Given the description of an element on the screen output the (x, y) to click on. 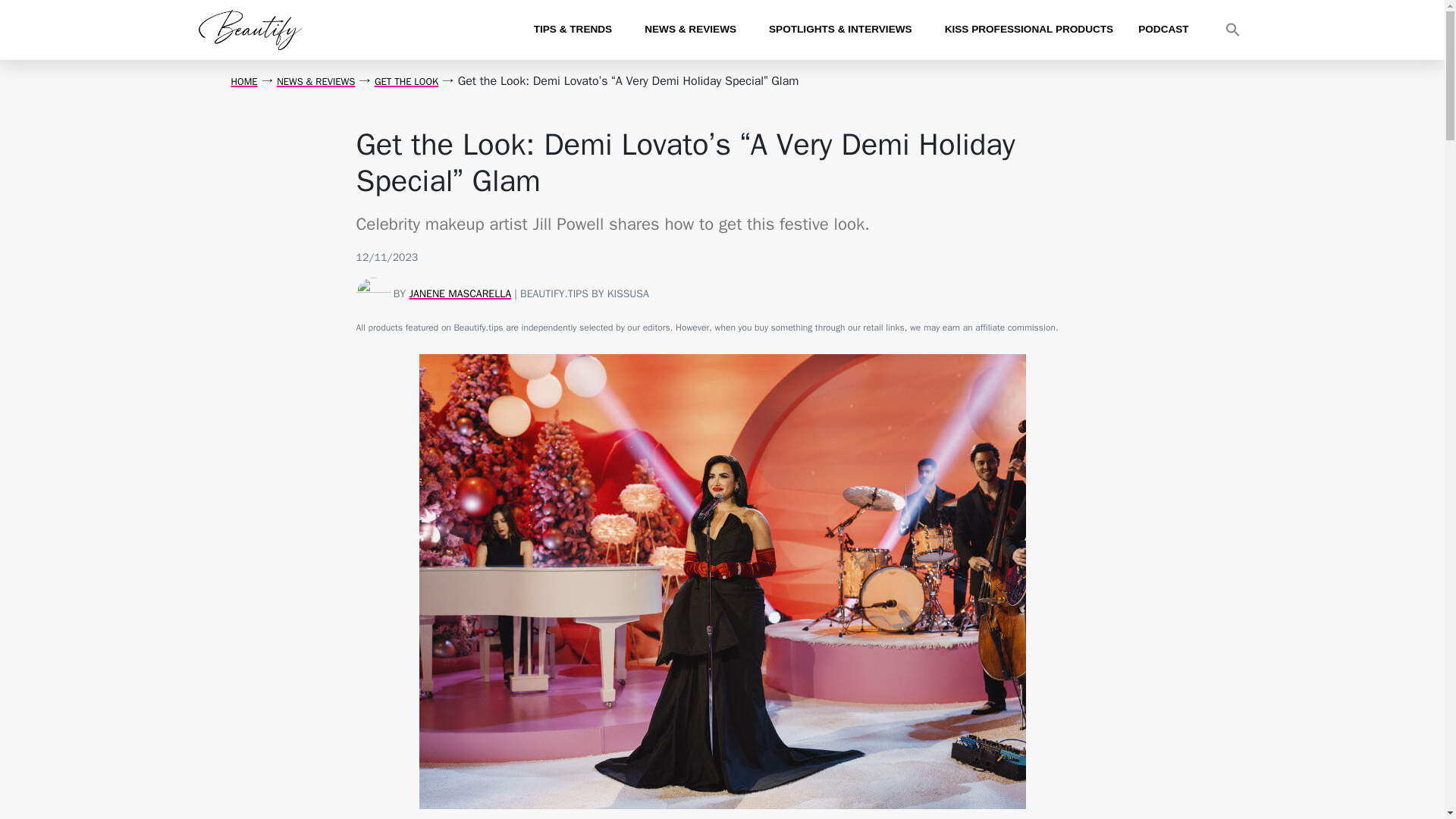
Get the Look (406, 81)
PODCAST (1163, 29)
HOME (243, 81)
JANENE MASCARELLA (460, 293)
Home (243, 81)
KISS PROFESSIONAL PRODUCTS (1029, 29)
GET THE LOOK (406, 81)
